Given the description of an element on the screen output the (x, y) to click on. 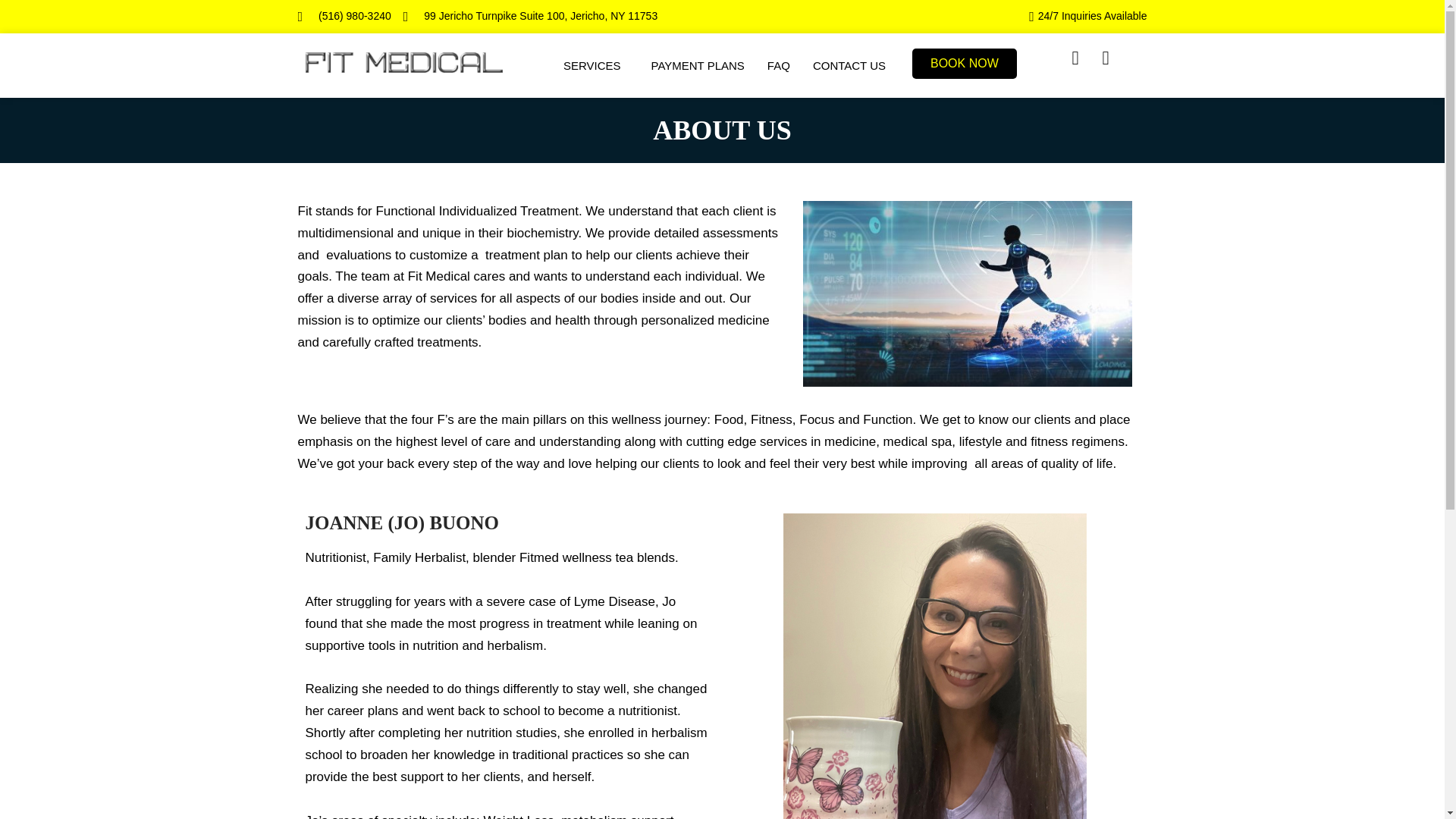
BOOK NOW (964, 63)
FAQ (778, 65)
CONTACT US (849, 65)
SERVICES (595, 65)
PAYMENT PLANS (697, 65)
99 Jericho Turnpike Suite 100, Jericho, NY 11753 (530, 16)
